Given the description of an element on the screen output the (x, y) to click on. 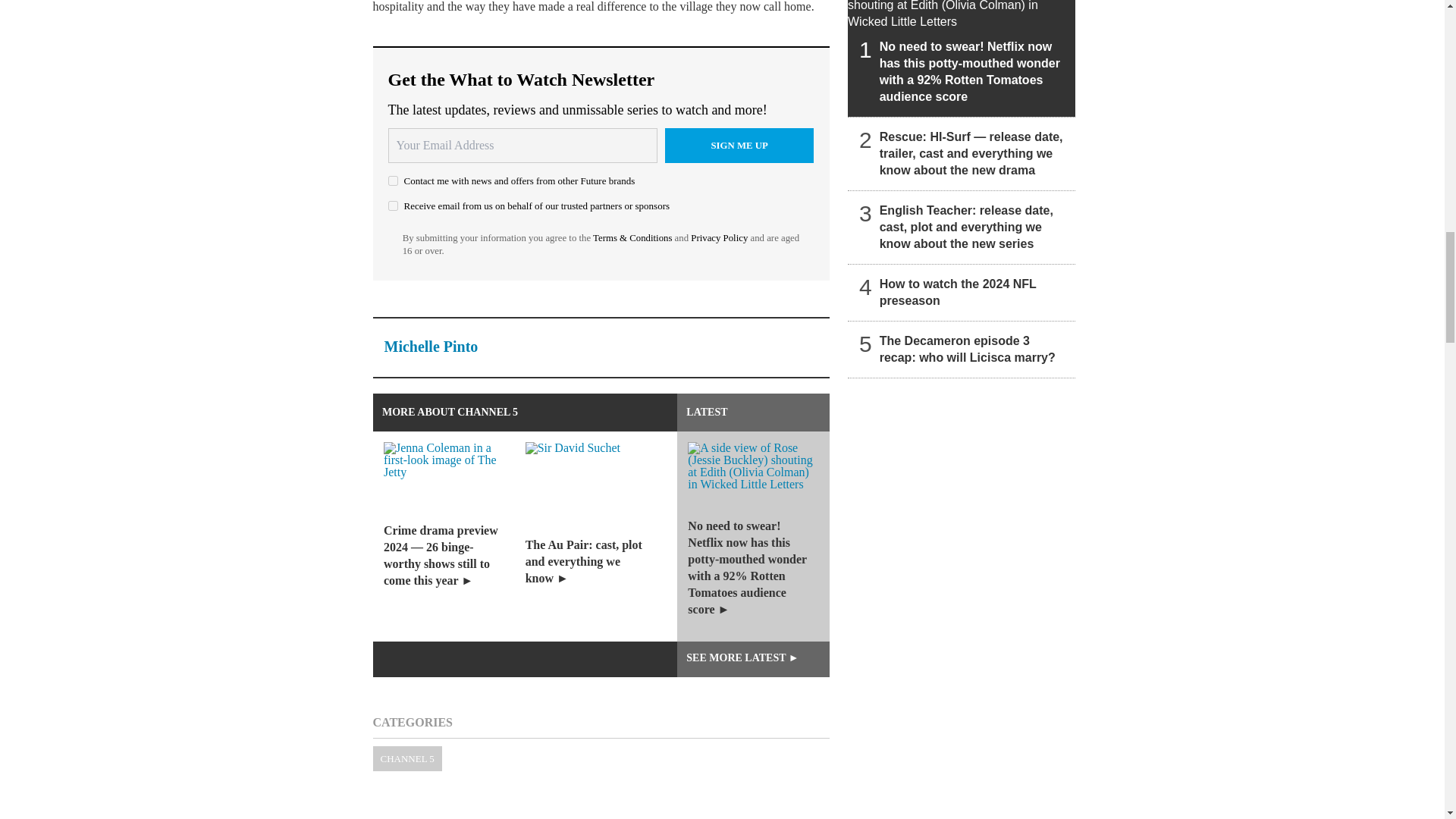
Michelle Pinto (430, 346)
The Au Pair: cast, plot and everything we know (600, 536)
Sign me up (739, 144)
CHANNEL 5 (407, 758)
on (392, 205)
Privacy Policy (719, 237)
Sign me up (739, 144)
on (392, 180)
